Given the description of an element on the screen output the (x, y) to click on. 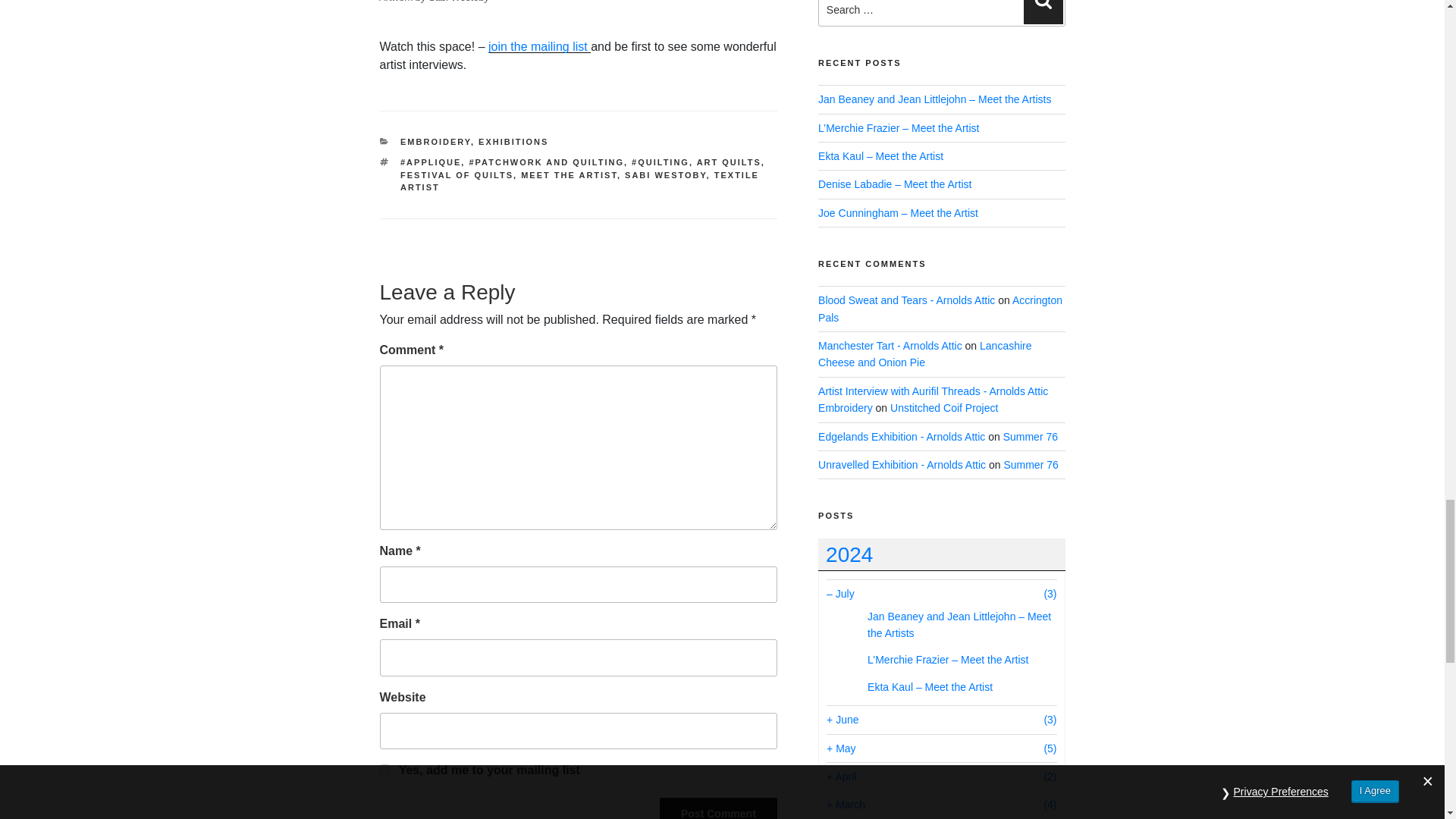
1 (383, 768)
Post Comment (718, 808)
Search (1042, 12)
Blood Sweat and Tears - Arnolds Attic (906, 300)
ART QUILTS (729, 162)
Accrington Pals (940, 308)
SABI WESTOBY (665, 174)
MEET THE ARTIST (569, 174)
FESTIVAL OF QUILTS (456, 174)
Post Comment (718, 808)
Manchester Tart - Arnolds Attic (890, 345)
TEXTILE ARTIST (579, 181)
EXHIBITIONS (513, 141)
Lancashire Cheese and Onion Pie (924, 353)
